Given the description of an element on the screen output the (x, y) to click on. 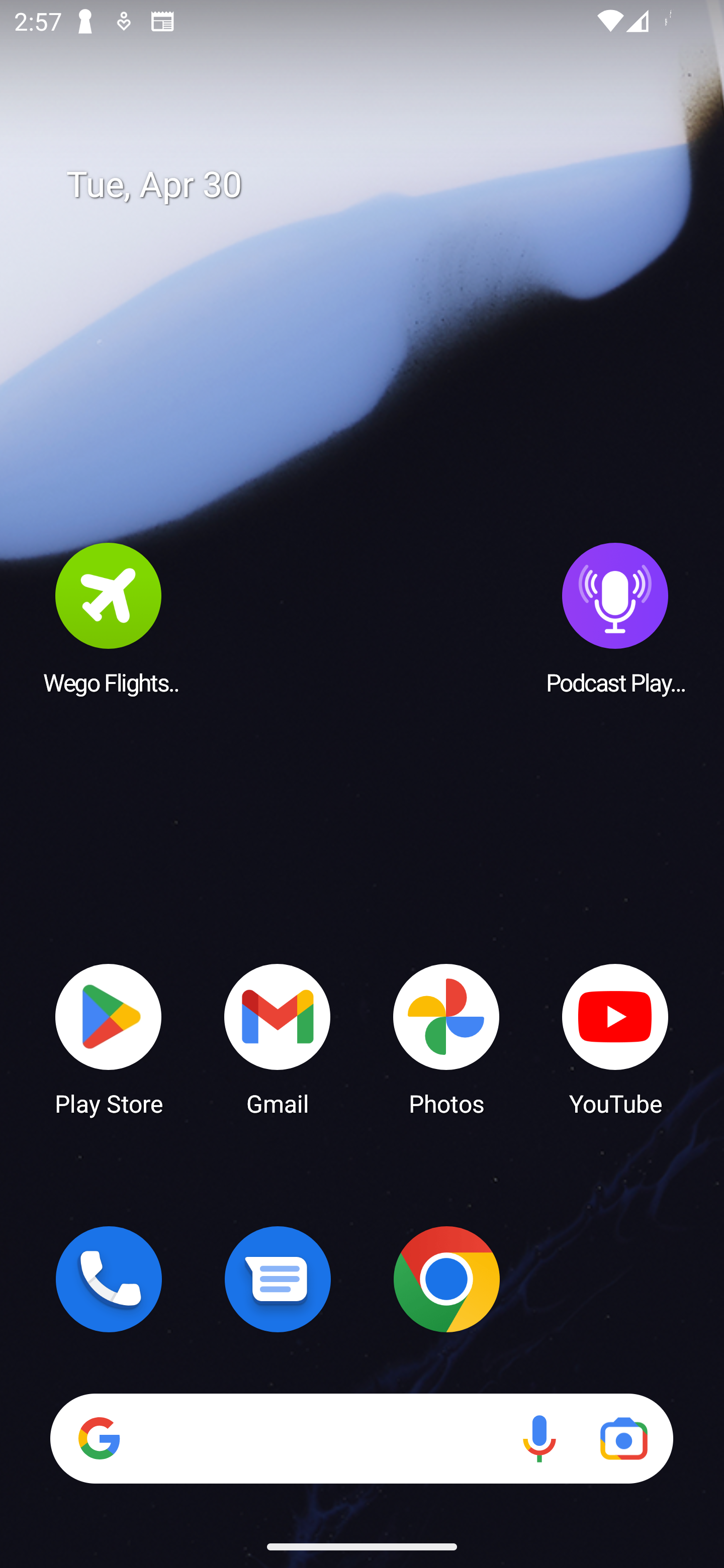
Tue, Apr 30 (375, 184)
Wego Flights & Hotels (108, 617)
Podcast Player (615, 617)
Play Store (108, 1038)
Gmail (277, 1038)
Photos (445, 1038)
YouTube (615, 1038)
Phone (108, 1279)
Messages (277, 1279)
Chrome (446, 1279)
Voice search (539, 1438)
Google Lens (623, 1438)
